Given the description of an element on the screen output the (x, y) to click on. 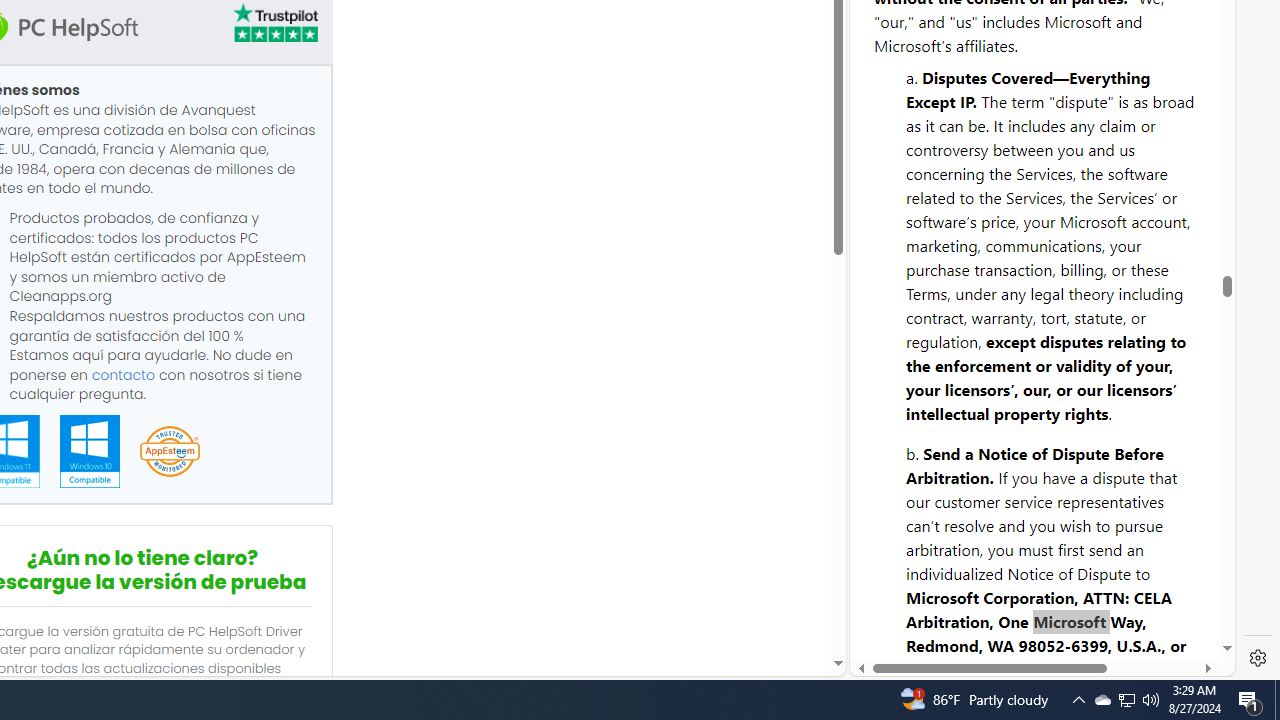
TrustPilot (274, 25)
App Esteem (169, 452)
contacto (123, 374)
App Esteem (169, 452)
TrustPilot (274, 22)
Open in New Tab (1042, 631)
